Given the description of an element on the screen output the (x, y) to click on. 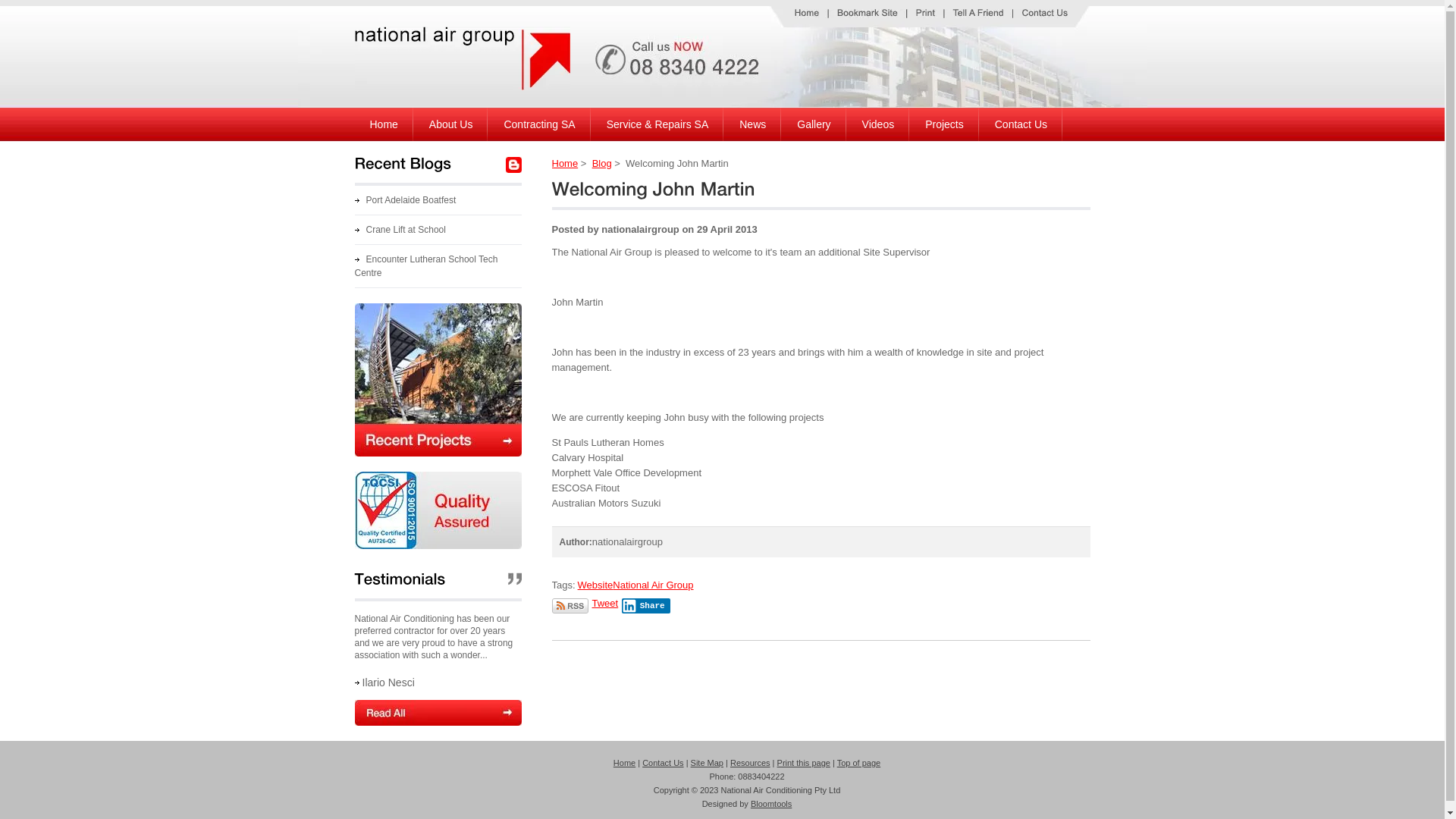
Contracting SA Element type: text (538, 124)
Encounter Lutheran School Tech Centre Element type: text (426, 266)
Gallery Element type: text (813, 124)
Home Element type: text (565, 163)
National Air Group Element type: hover (462, 86)
Contact Us Element type: text (1020, 124)
Top of page Element type: text (859, 762)
News Element type: text (752, 124)
National Air Group Element type: text (652, 584)
Crane Lift at School Element type: text (399, 229)
Subscribe via RSS Element type: text (570, 605)
Read all Element type: hover (437, 712)
Share Element type: text (645, 605)
Website Element type: text (595, 584)
Projects Element type: text (944, 124)
About Us Element type: text (451, 124)
Tweet Element type: text (604, 602)
Recent Projects Element type: hover (437, 452)
Port Adelaide Boatfest Element type: text (405, 199)
Blog Element type: text (601, 163)
Contact Us Element type: text (662, 762)
Home Element type: text (624, 762)
Service & Repairs SA Element type: text (657, 124)
Site Map Element type: text (706, 762)
Home Element type: text (383, 124)
Videos Element type: text (878, 124)
Print this page Element type: text (803, 762)
Resources Element type: text (750, 762)
Bloomtools Element type: text (770, 803)
